Given the description of an element on the screen output the (x, y) to click on. 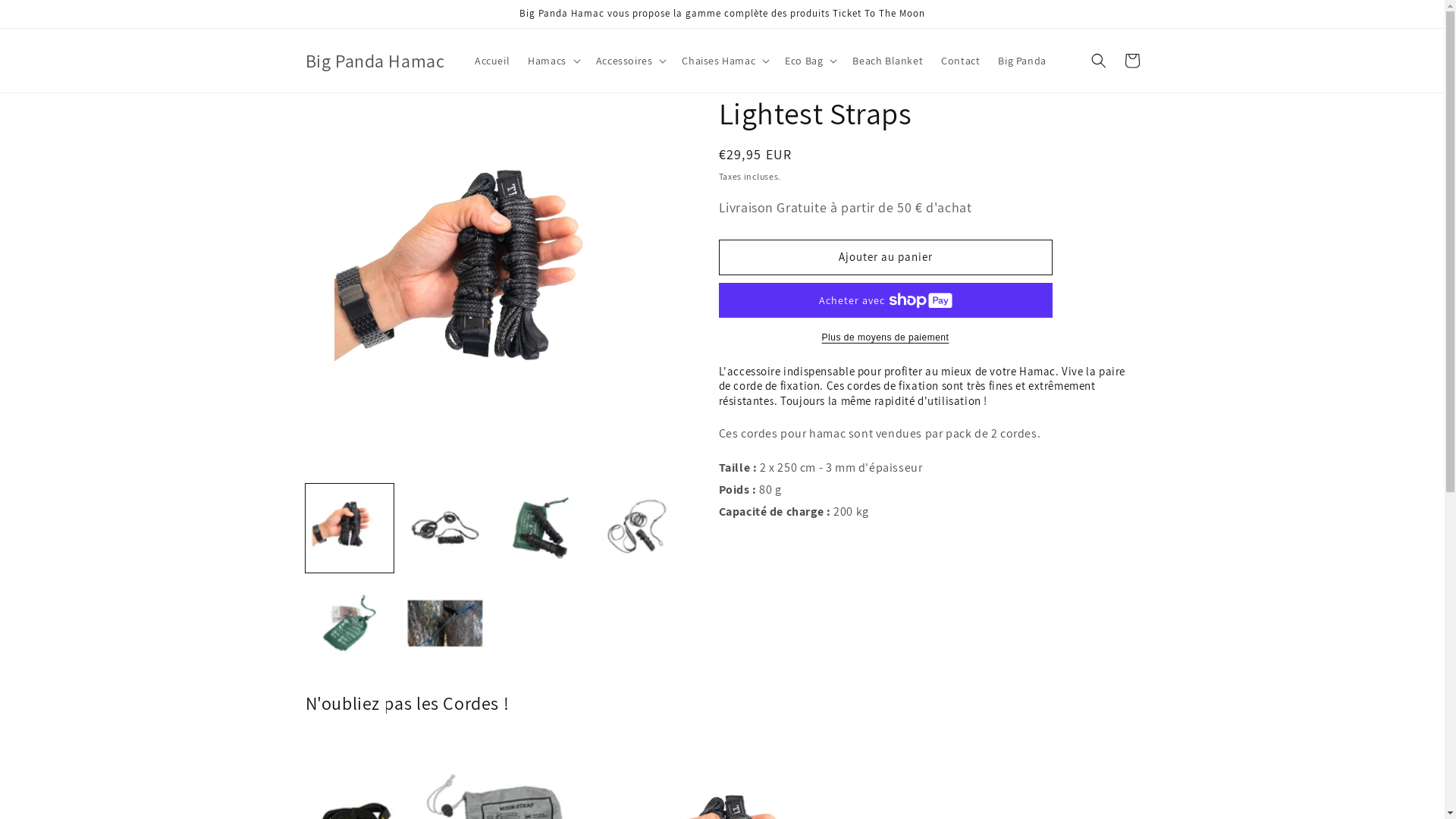
Plus de moyens de paiement Element type: text (885, 337)
Contact Element type: text (959, 60)
Beach Blanket Element type: text (887, 60)
Panier Element type: text (1131, 60)
Ajouter au panier Element type: text (885, 257)
Big Panda Element type: text (1021, 60)
Passer aux informations produits Element type: text (350, 110)
Accueil Element type: text (491, 60)
Big Panda Hamac Element type: text (374, 60)
